Given the description of an element on the screen output the (x, y) to click on. 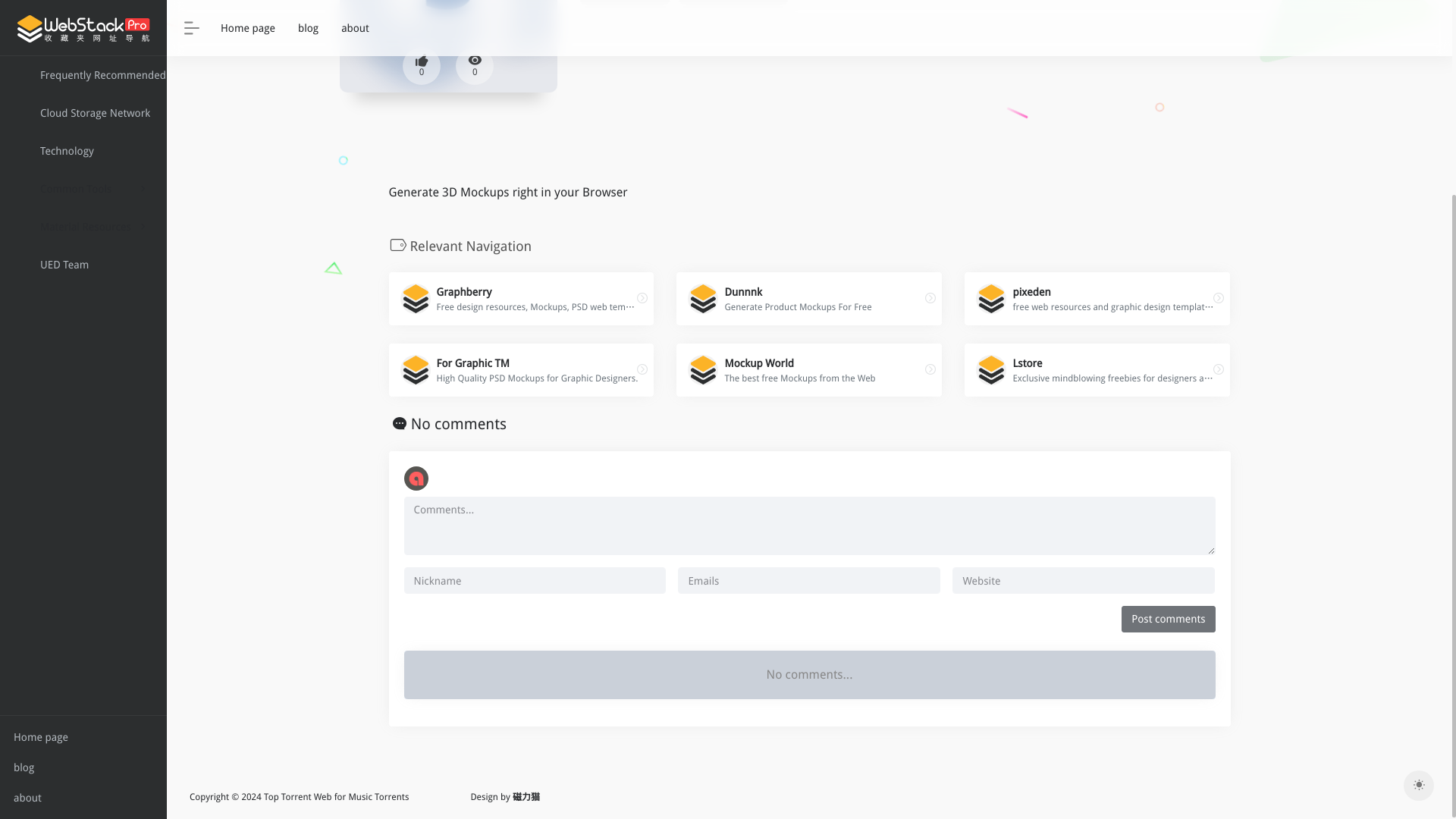
Views (474, 65)
about (83, 542)
blog (83, 512)
Direct link (1218, 369)
Threed (448, 5)
Dark mode (809, 298)
Direct link (1418, 530)
Direct link (624, 2)
